Given the description of an element on the screen output the (x, y) to click on. 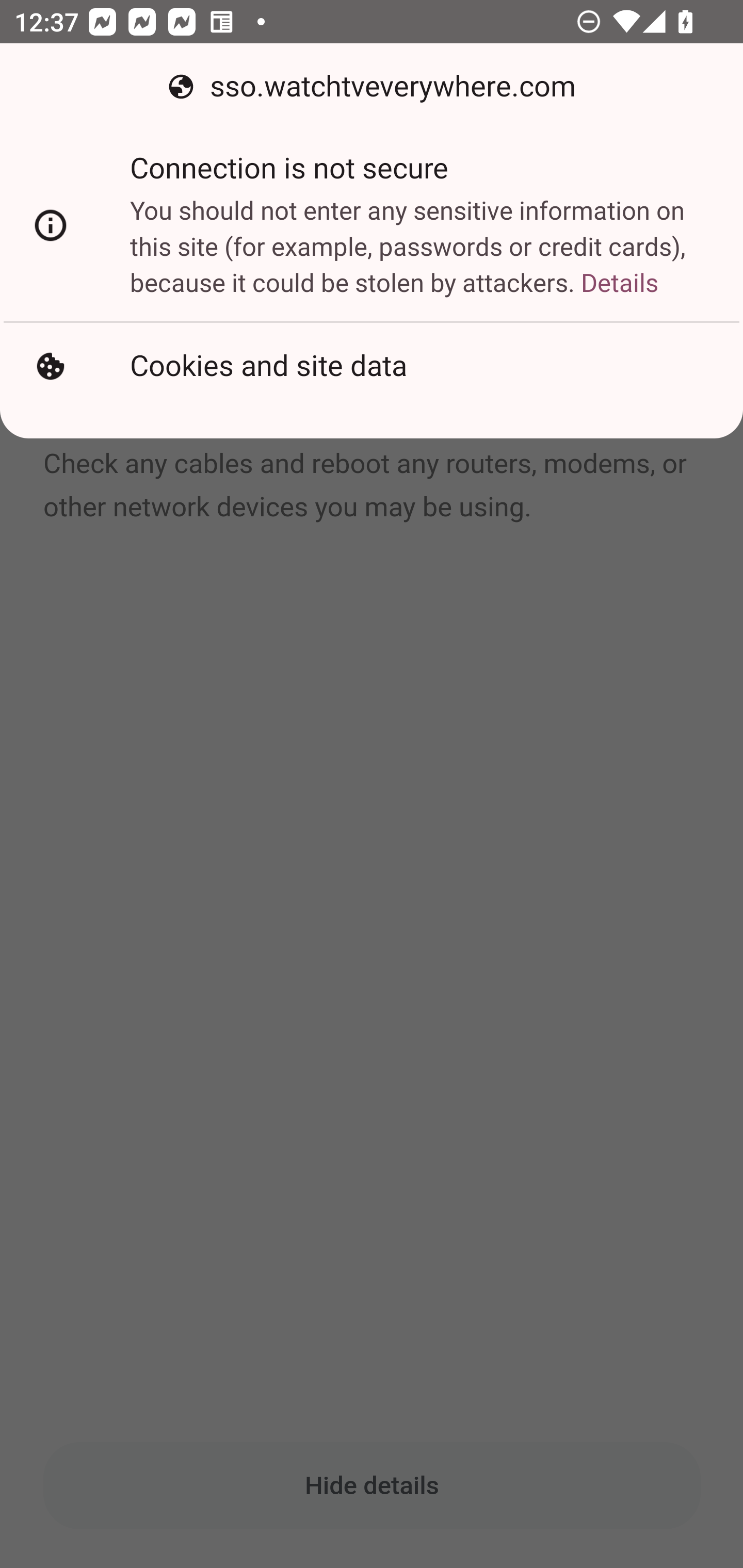
sso.watchtveverywhere.com (371, 86)
Cookies and site data (371, 366)
